Given the description of an element on the screen output the (x, y) to click on. 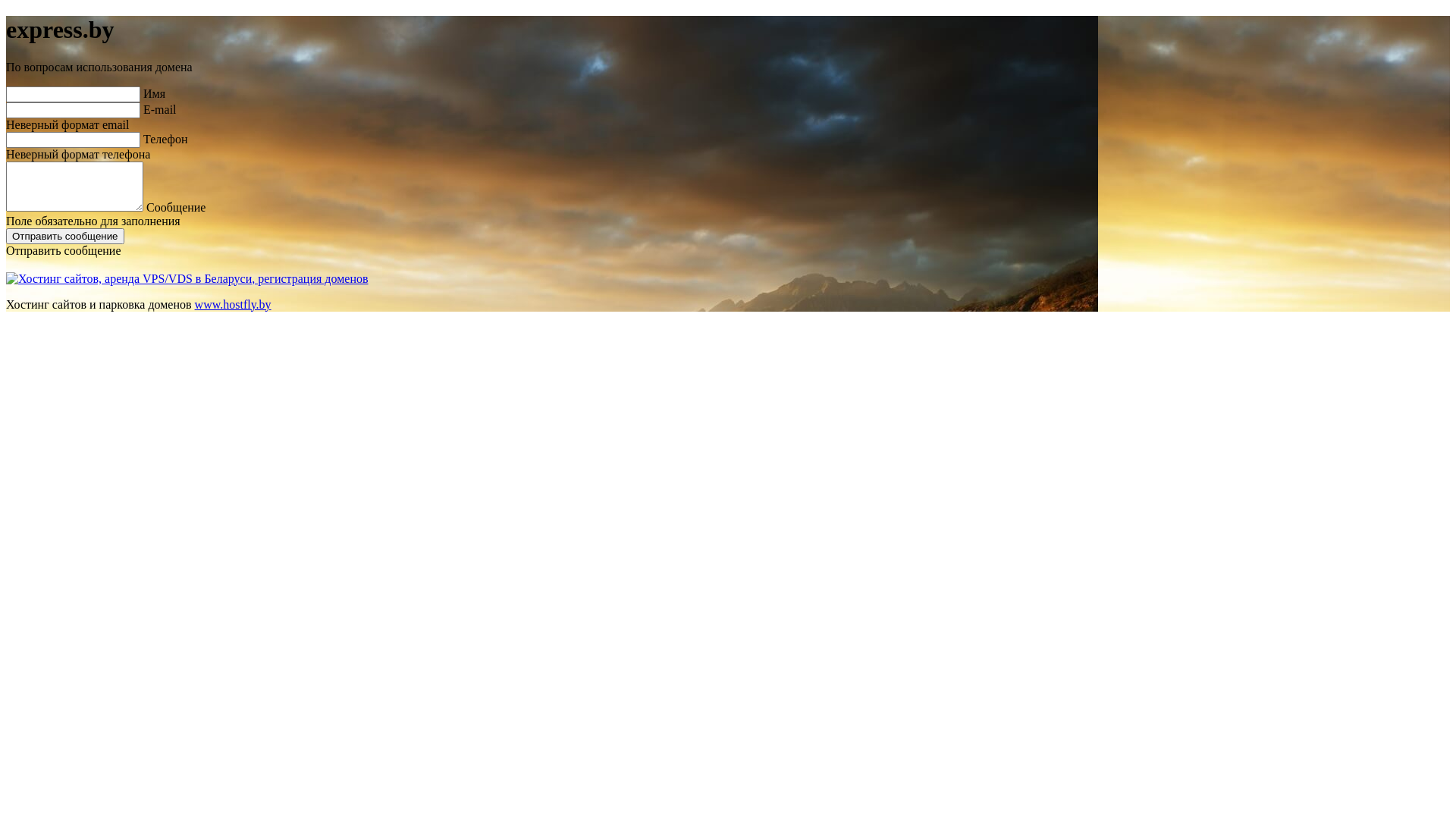
www.hostfly.by Element type: text (232, 304)
